Given the description of an element on the screen output the (x, y) to click on. 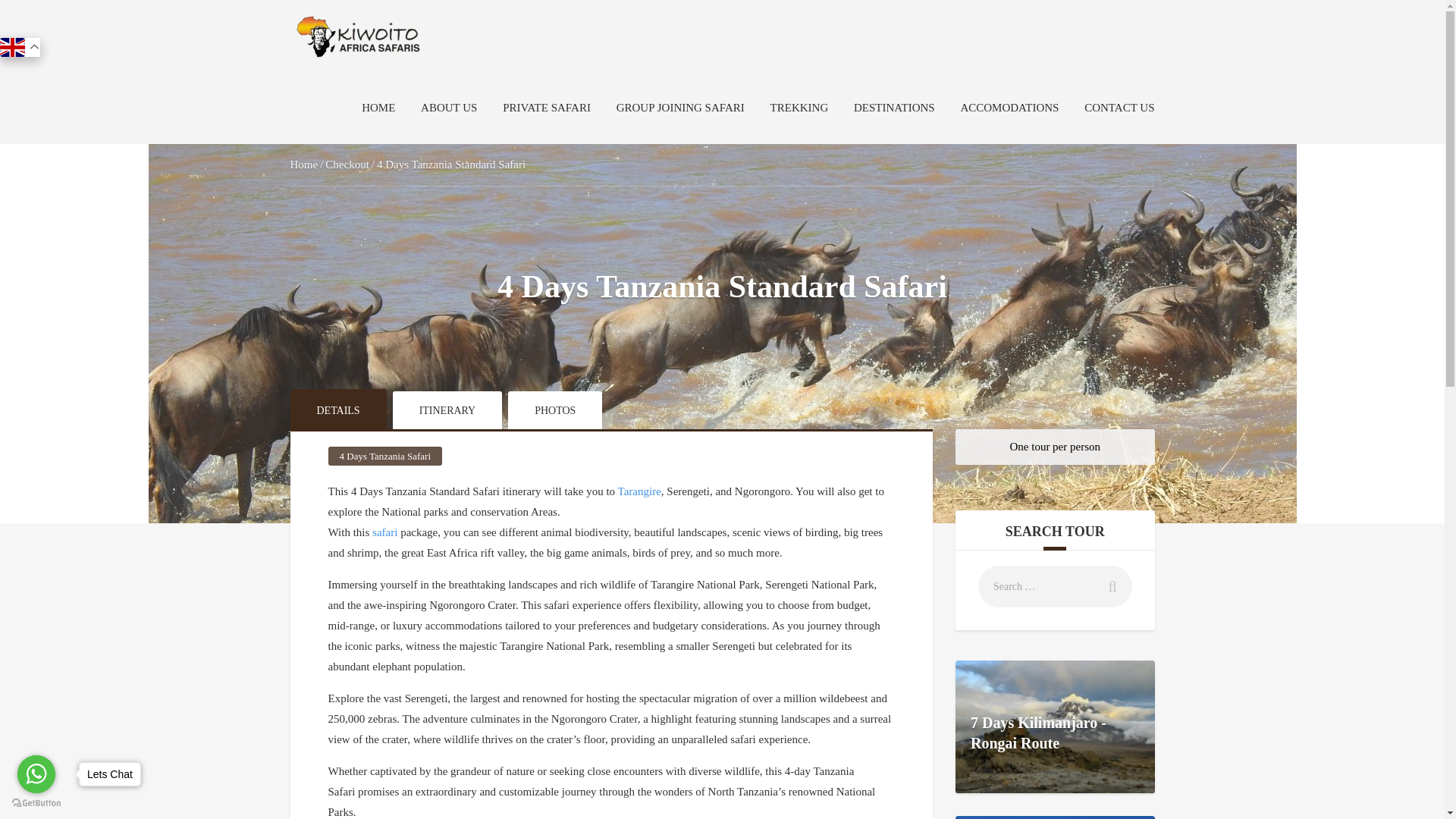
African Safari Tours (357, 37)
